Given the description of an element on the screen output the (x, y) to click on. 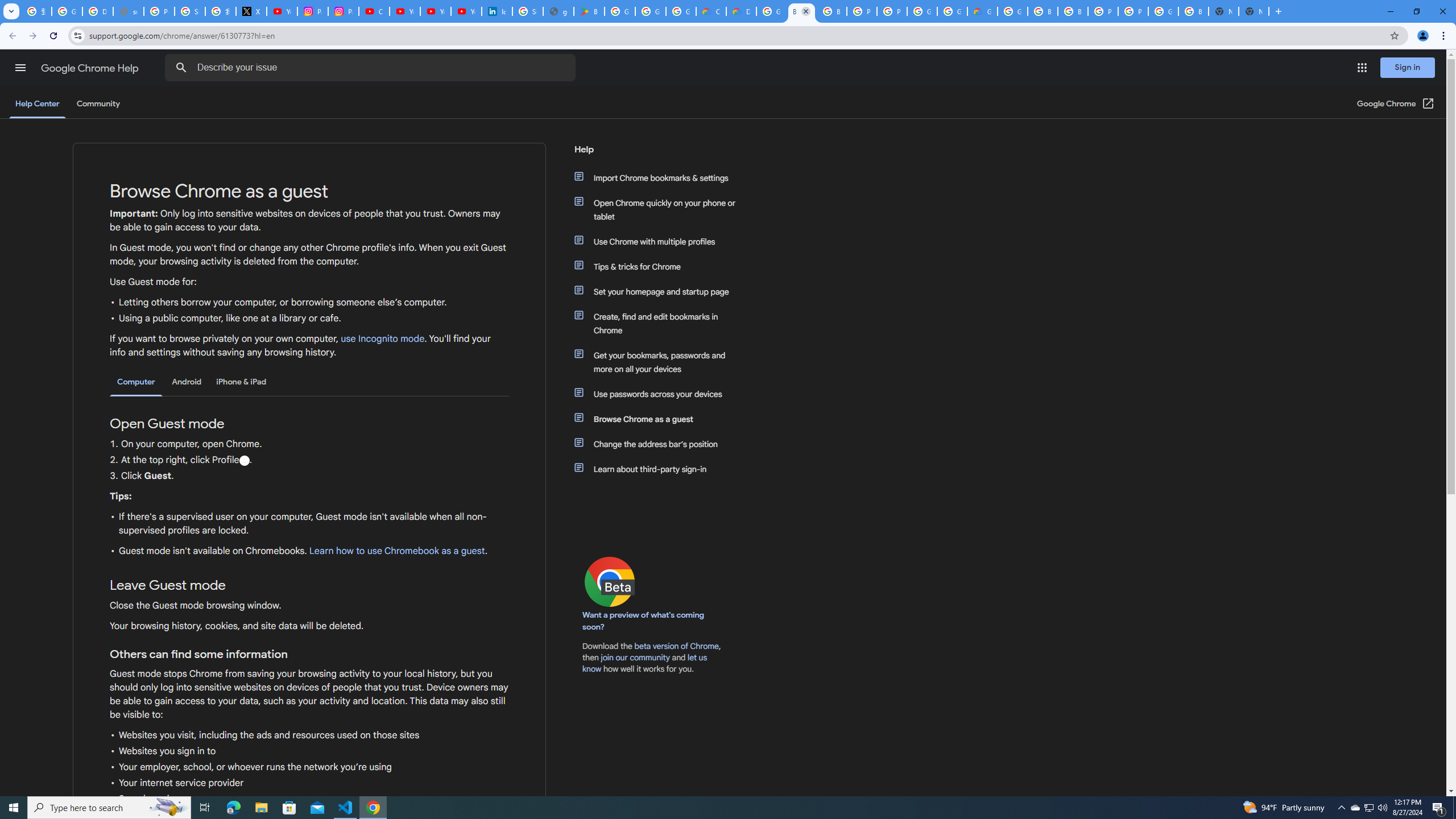
New Tab (1253, 11)
Google Cloud Platform (922, 11)
Google Cloud Platform (1012, 11)
Google Workspace - Specific Terms (650, 11)
Community (97, 103)
YouTube Culture & Trends - YouTube Top 10, 2021 (465, 11)
